Given the description of an element on the screen output the (x, y) to click on. 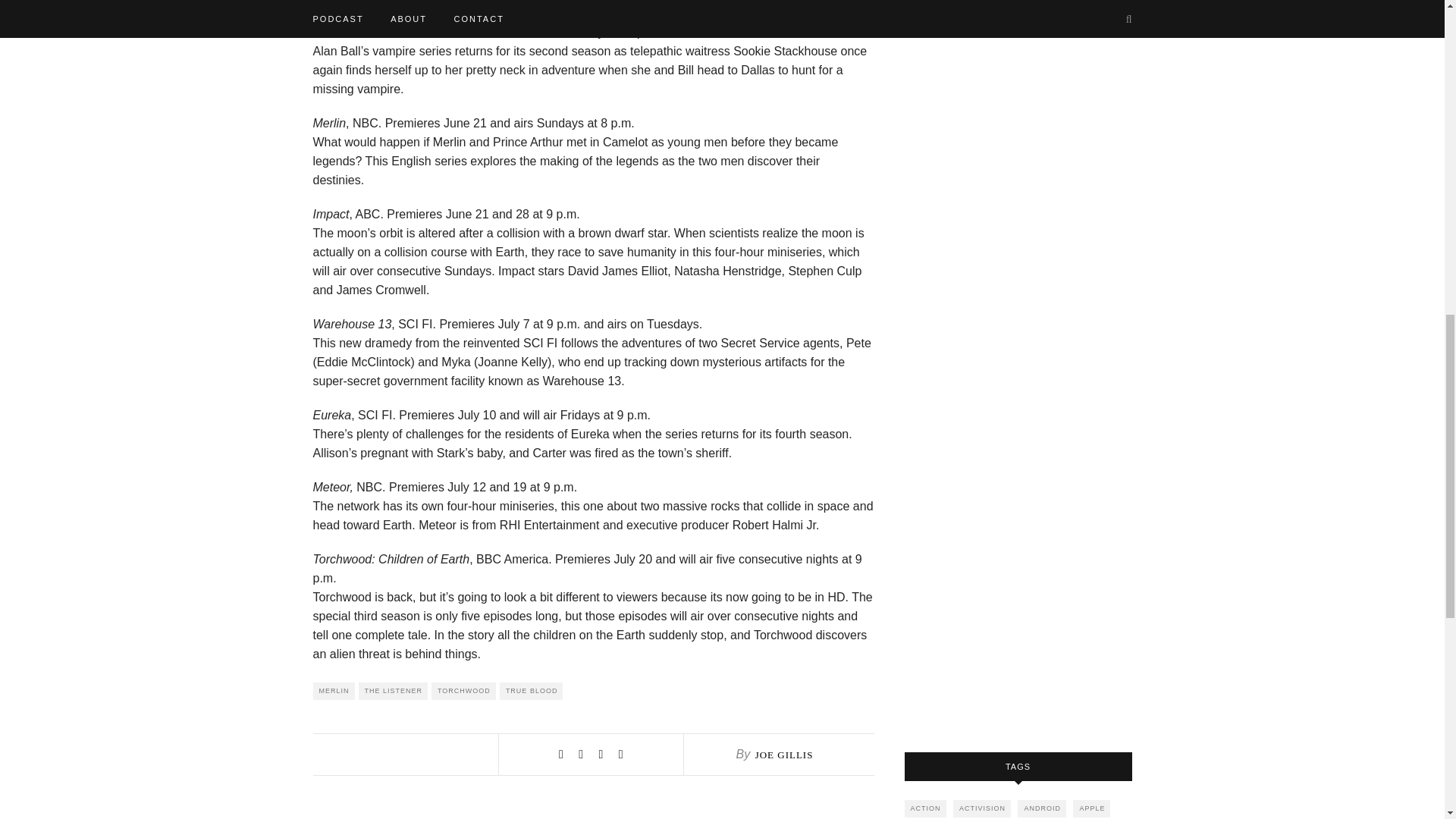
TORCHWOOD (463, 691)
ACTIVISION (981, 808)
ANDROID (1041, 808)
ACTION (924, 808)
JOE GILLIS (784, 754)
MERLIN (333, 691)
APPLE (1091, 808)
Posts by Joe Gillis (784, 754)
TRUE BLOOD (531, 691)
THE LISTENER (393, 691)
